Given the description of an element on the screen output the (x, y) to click on. 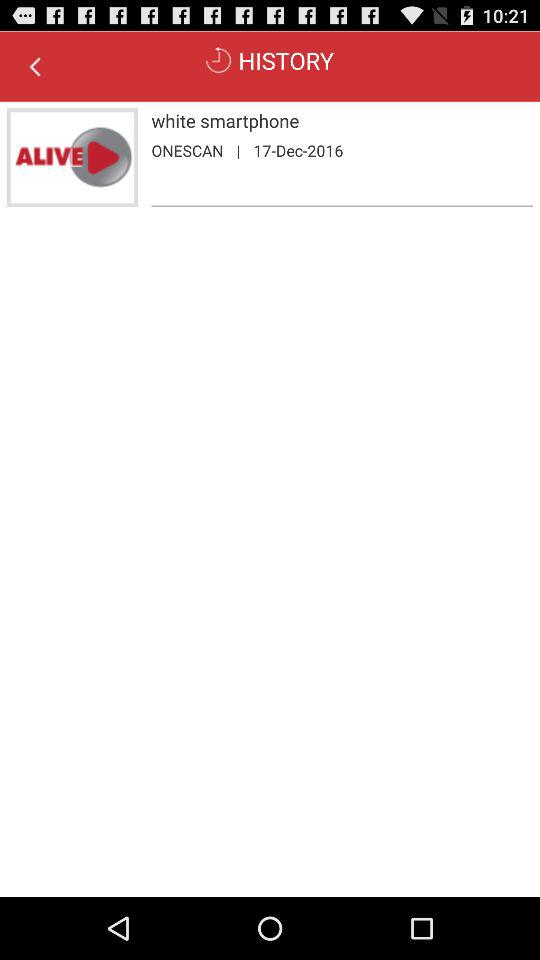
select the item below the onescan app (342, 206)
